Given the description of an element on the screen output the (x, y) to click on. 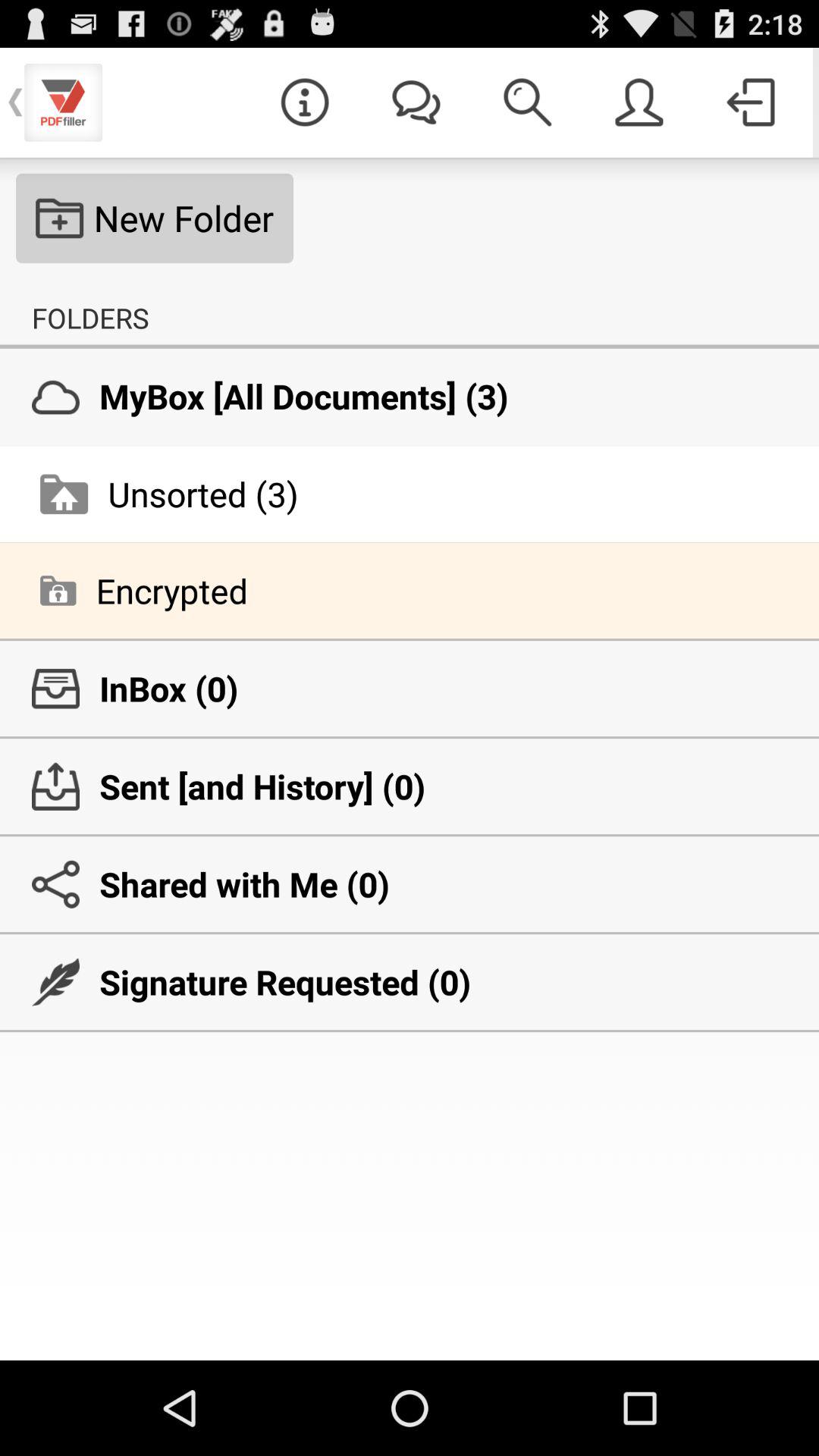
turn off item below the new folder button (90, 317)
